Given the description of an element on the screen output the (x, y) to click on. 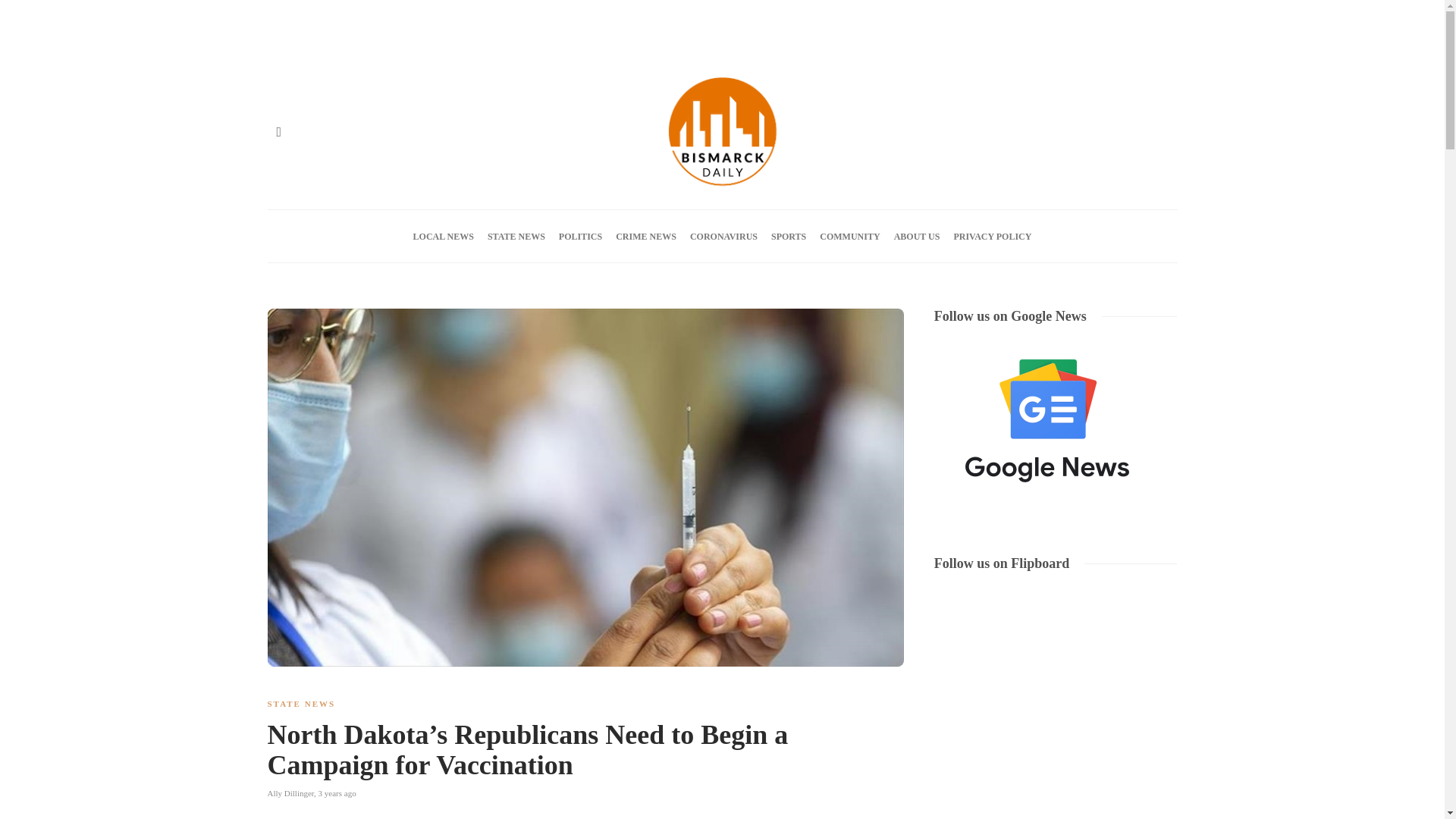
Meet the Team (446, 35)
About us (381, 35)
COMMUNITY (849, 235)
LOCAL NEWS (443, 235)
STATE NEWS (300, 703)
PRIVACY POLICY (991, 235)
Privacy Policy (521, 35)
CRIME NEWS (646, 235)
STATE NEWS (515, 235)
Advertise (327, 35)
Terms and Conditions (610, 35)
CORONAVIRUS (723, 235)
